Given the description of an element on the screen output the (x, y) to click on. 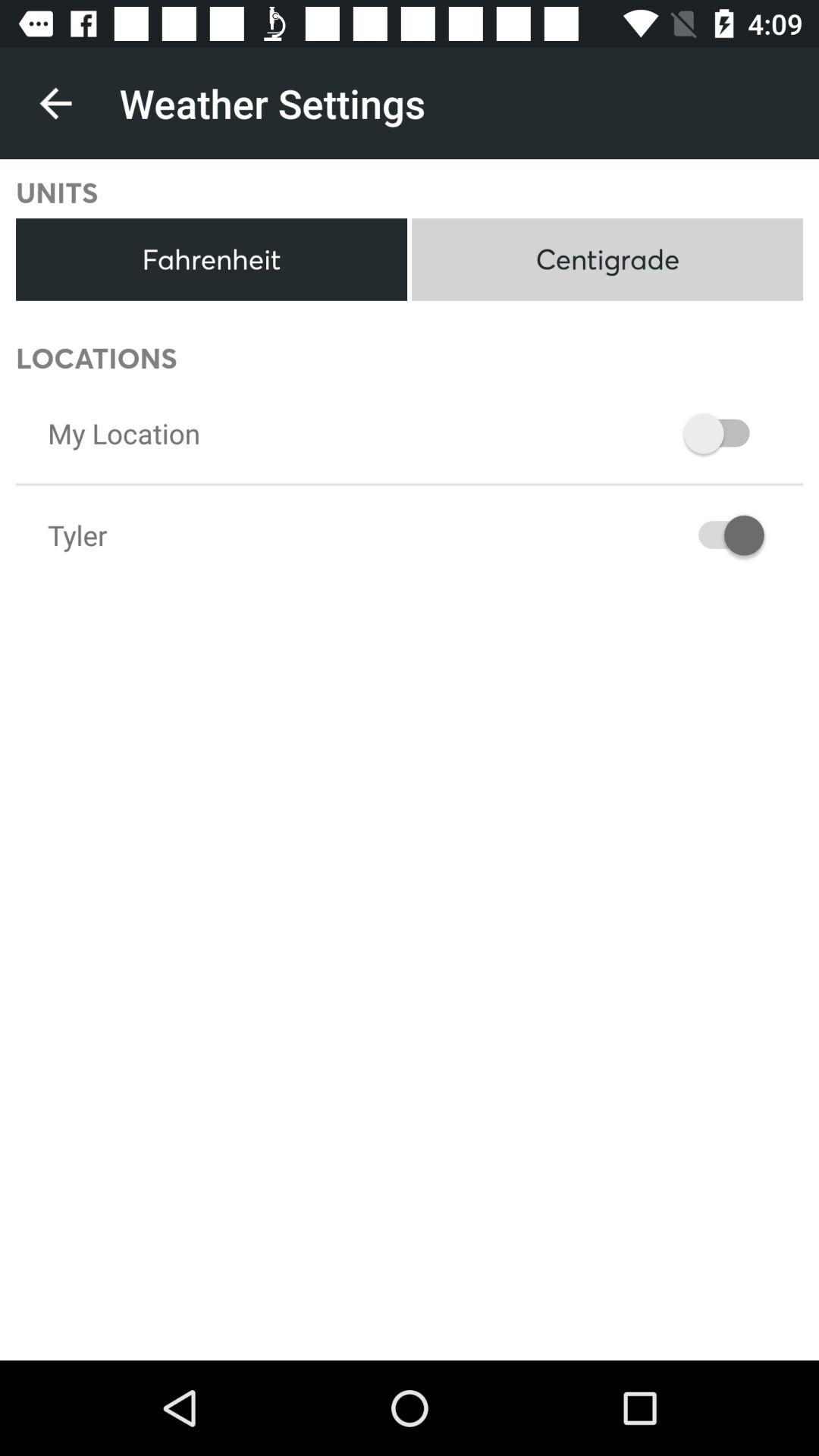
select the icon next to fahrenheit (607, 259)
